Given the description of an element on the screen output the (x, y) to click on. 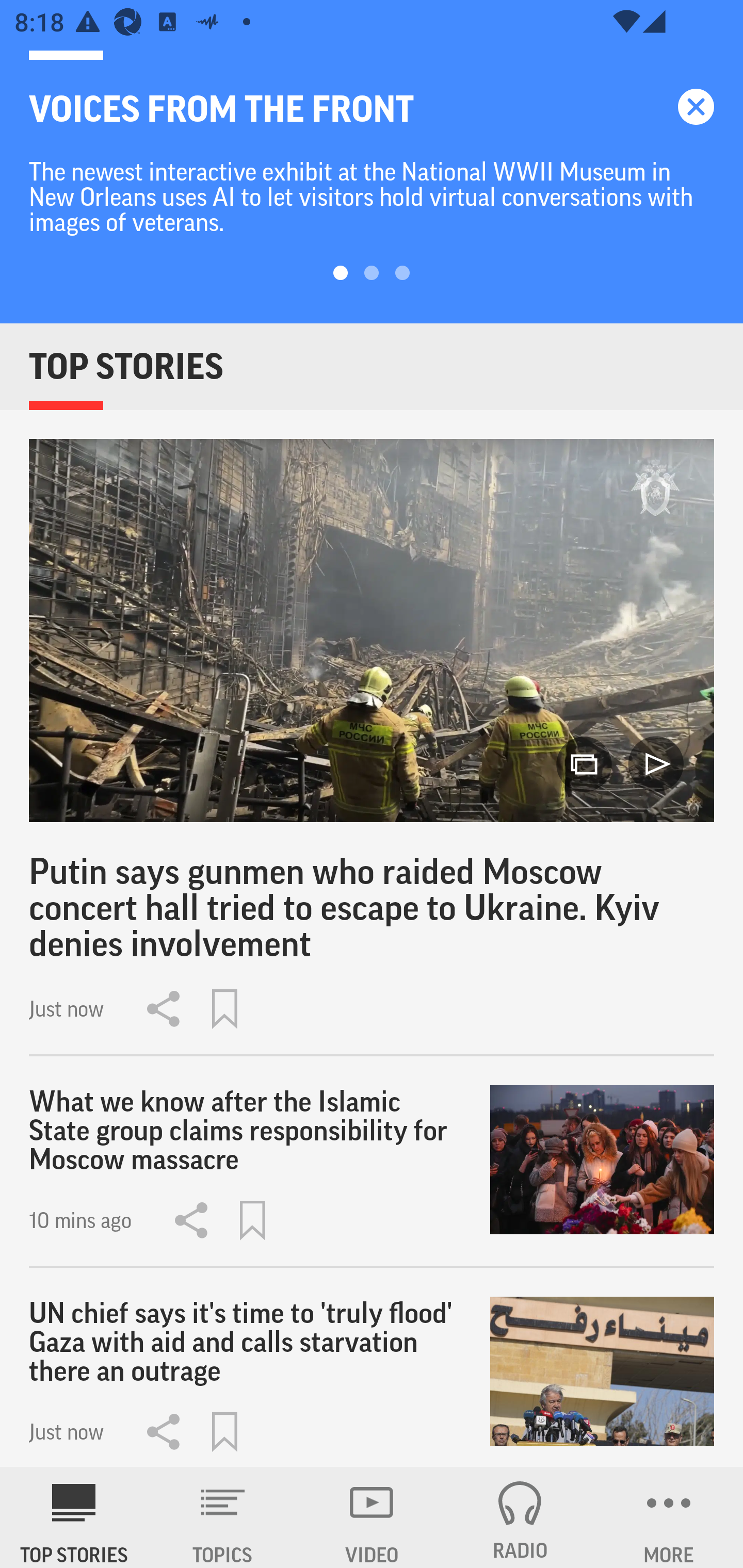
AP News TOP STORIES (74, 1517)
TOPICS (222, 1517)
VIDEO (371, 1517)
RADIO (519, 1517)
MORE (668, 1517)
